Given the description of an element on the screen output the (x, y) to click on. 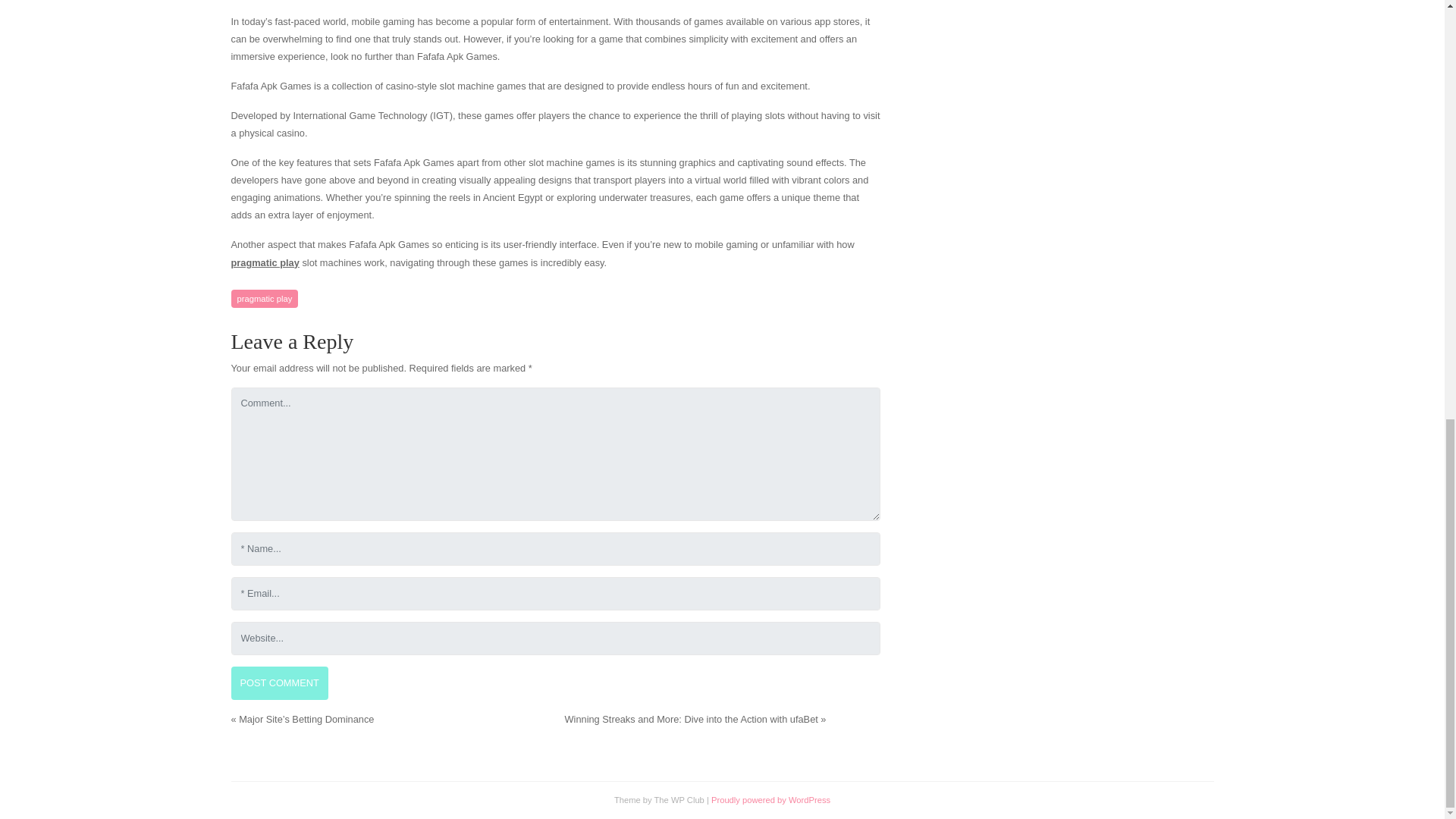
pragmatic play (264, 298)
Post Comment (278, 683)
pragmatic play (264, 262)
Winning Streaks and More: Dive into the Action with ufaBet (690, 718)
Post Comment (278, 683)
Proudly powered by WordPress (770, 799)
